Given the description of an element on the screen output the (x, y) to click on. 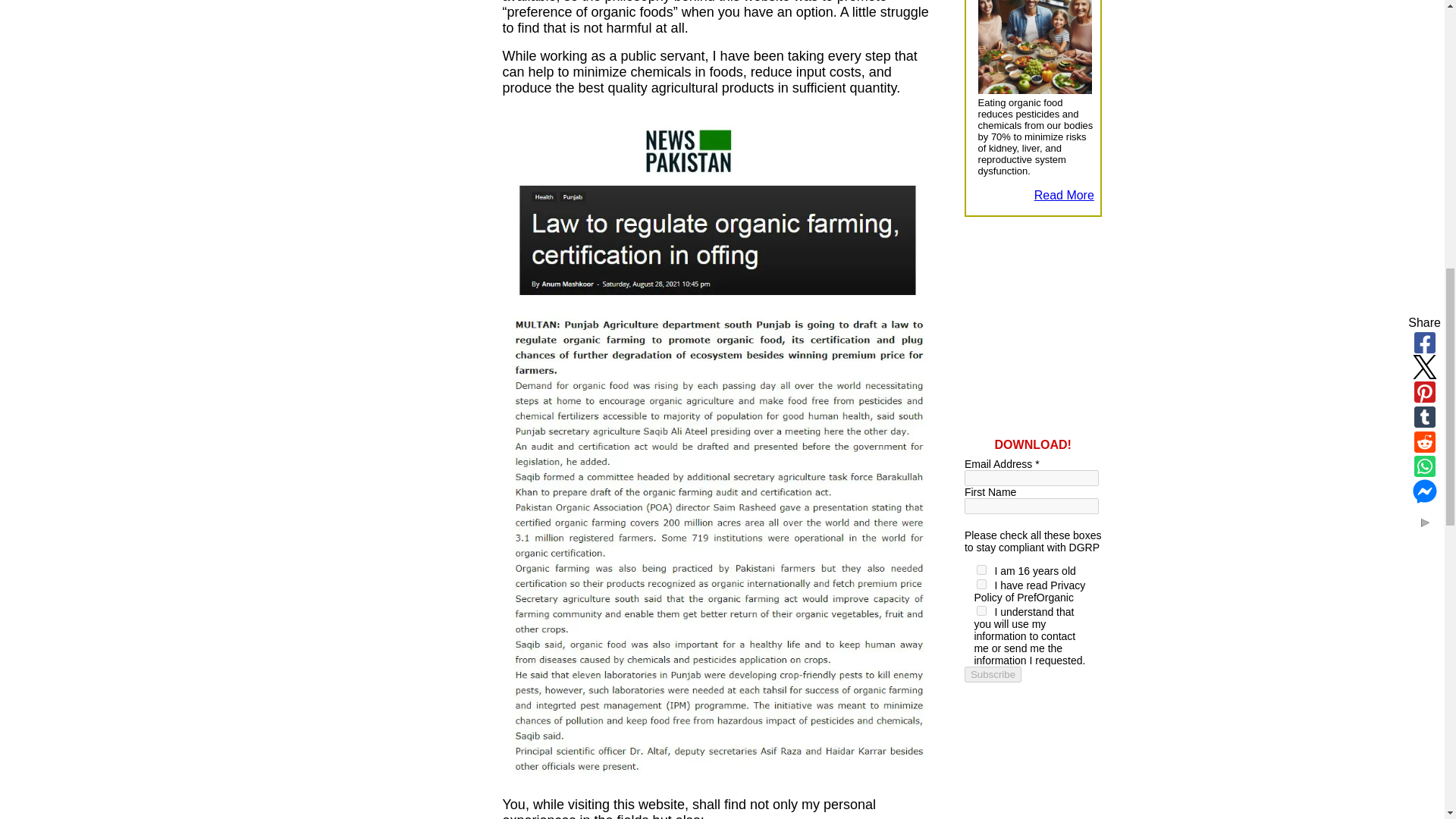
Subscribe (992, 674)
Y (981, 610)
Y (981, 569)
Y (981, 583)
